Given the description of an element on the screen output the (x, y) to click on. 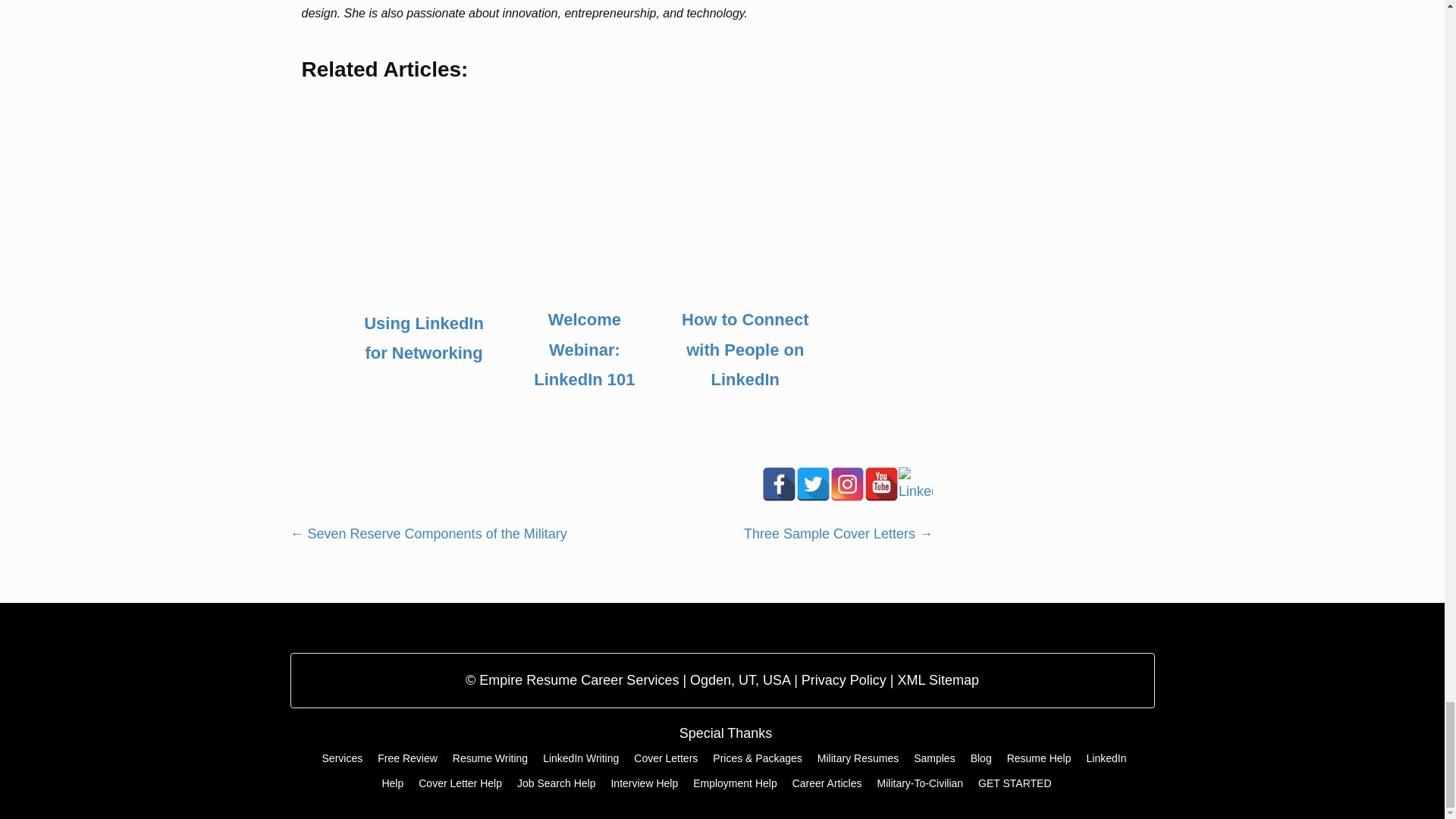
How to Connect with People on LinkedIn (744, 349)
LinkedIn (915, 483)
Instagram (846, 483)
Facebook (778, 483)
Using LinkedIn for Networking (423, 338)
YouTube (881, 483)
Welcome Webinar: LinkedIn 101 (584, 349)
Twitter (812, 483)
